Given the description of an element on the screen output the (x, y) to click on. 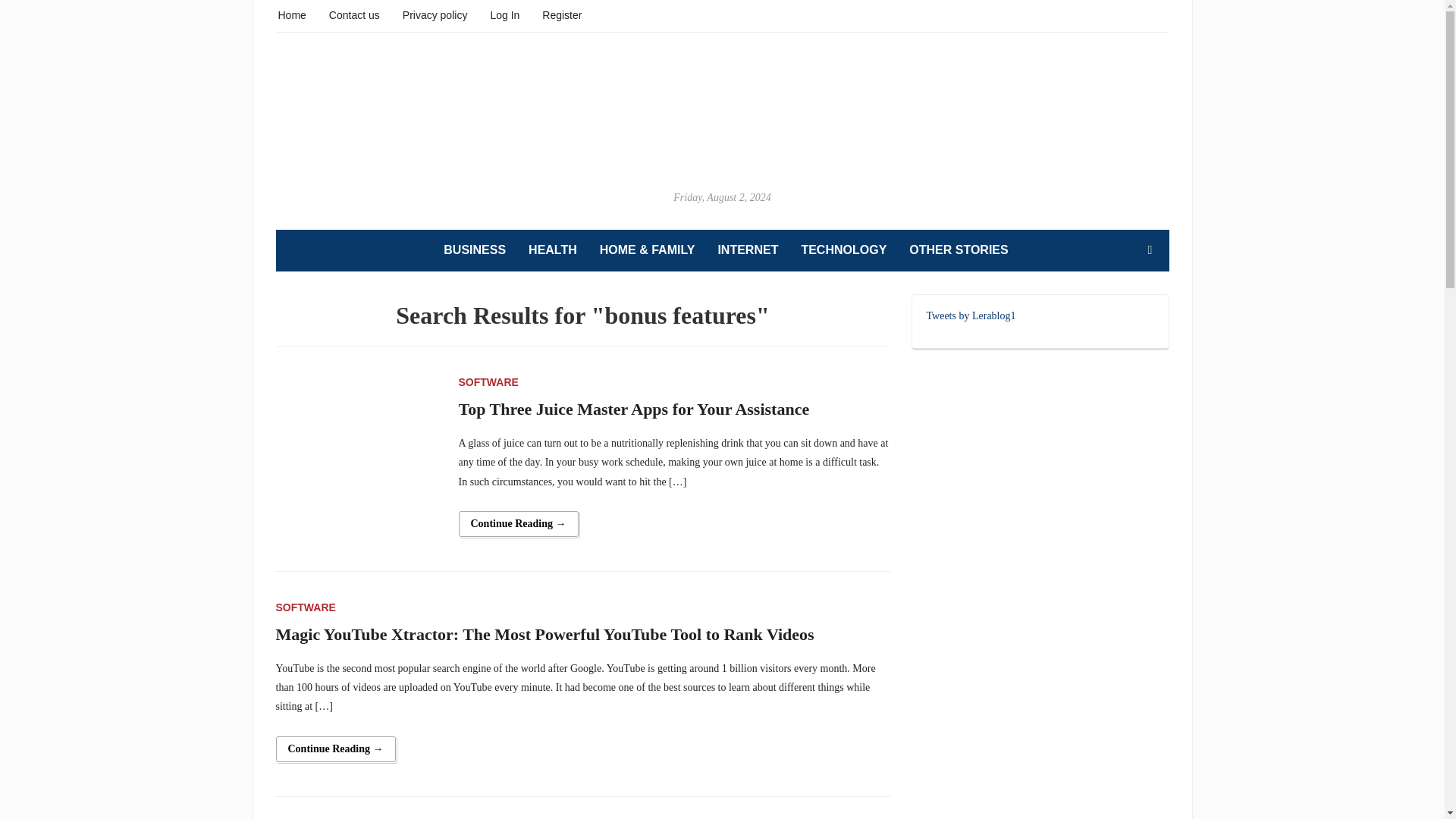
Search (1149, 250)
Top Three Juice Master Apps for Your Assistance (357, 453)
Home (291, 14)
Register (560, 14)
Permalink to Top Three Juice Master Apps for Your Assistance (518, 524)
Contact us (354, 14)
Log In (504, 14)
Privacy policy (435, 14)
